Given the description of an element on the screen output the (x, y) to click on. 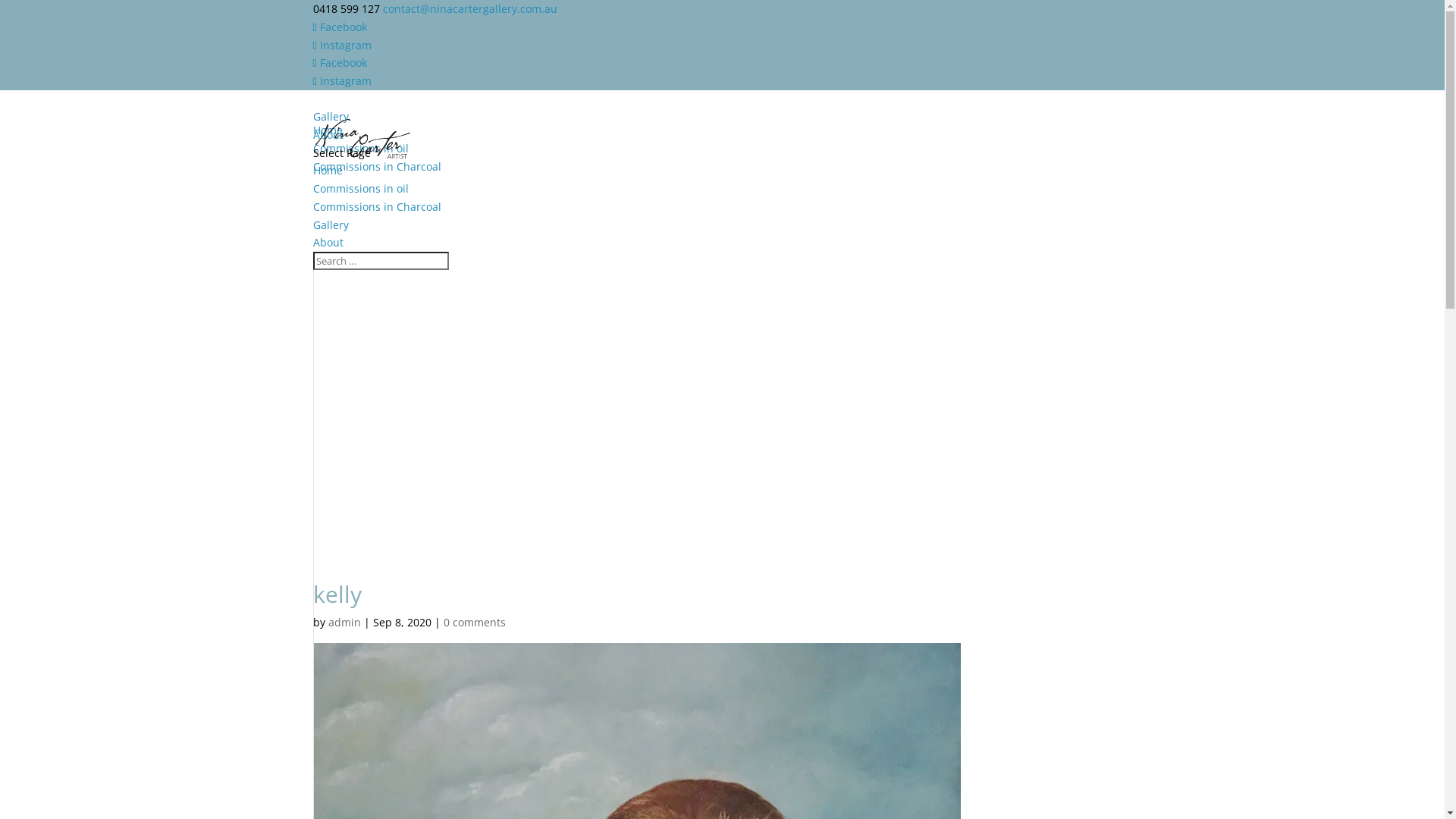
Commissions in oil Element type: text (359, 163)
Instagram Element type: text (341, 44)
About Element type: text (327, 149)
Commissions in Charcoal Element type: text (376, 206)
Gallery Element type: text (330, 131)
Facebook Element type: text (339, 62)
Gallery Element type: text (330, 224)
Commissions in Charcoal Element type: text (376, 181)
About Element type: text (327, 242)
Home Element type: text (327, 145)
Instagram Element type: text (341, 80)
Home Element type: text (327, 170)
Commissions in oil Element type: text (359, 188)
0 comments Element type: text (473, 622)
Facebook Element type: text (339, 26)
admin Element type: text (343, 622)
contact@ninacartergallery.com.au Element type: text (469, 8)
Search for: Element type: hover (380, 260)
